Given the description of an element on the screen output the (x, y) to click on. 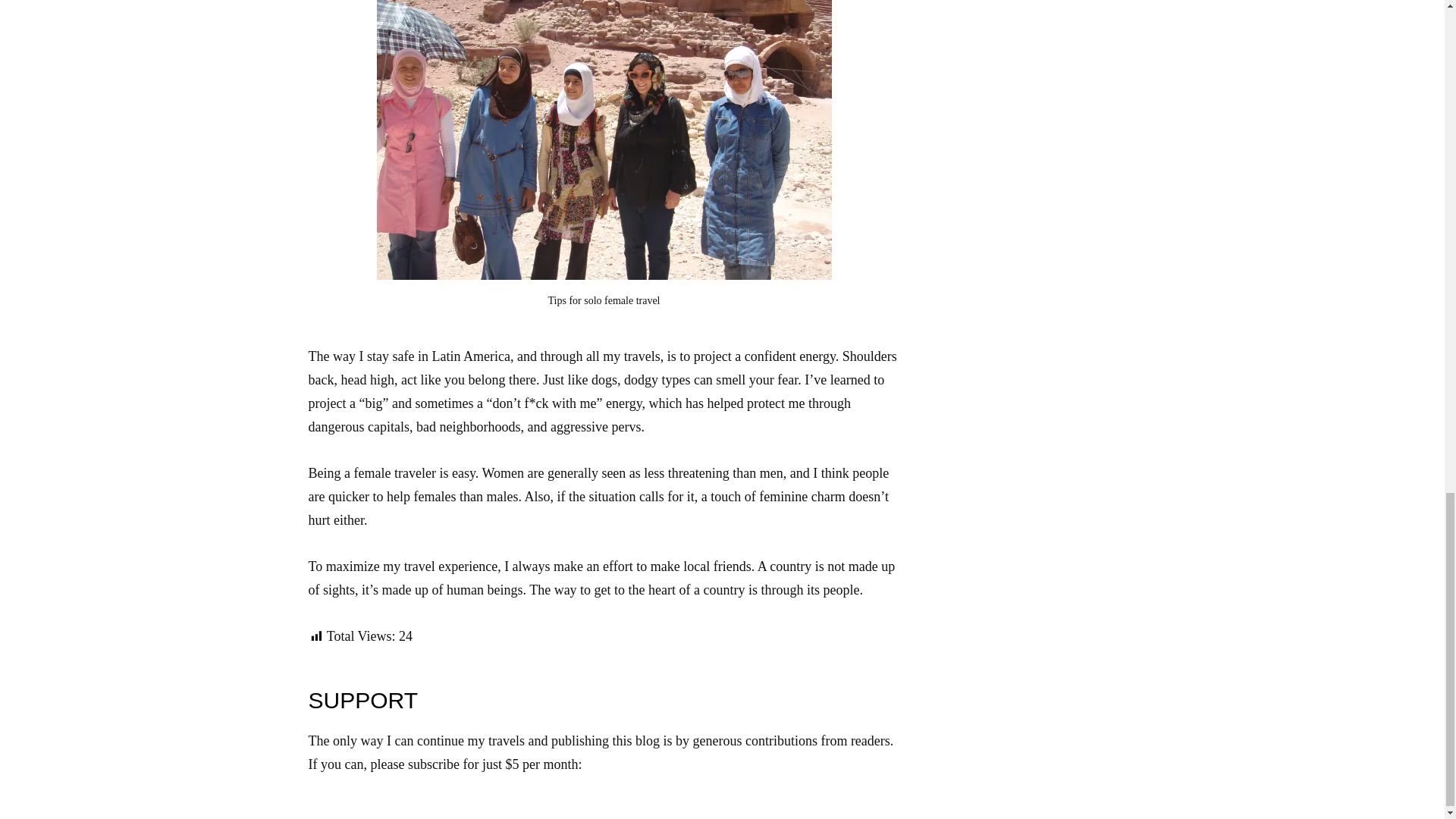
woman traveler in Jordan (603, 140)
